Given the description of an element on the screen output the (x, y) to click on. 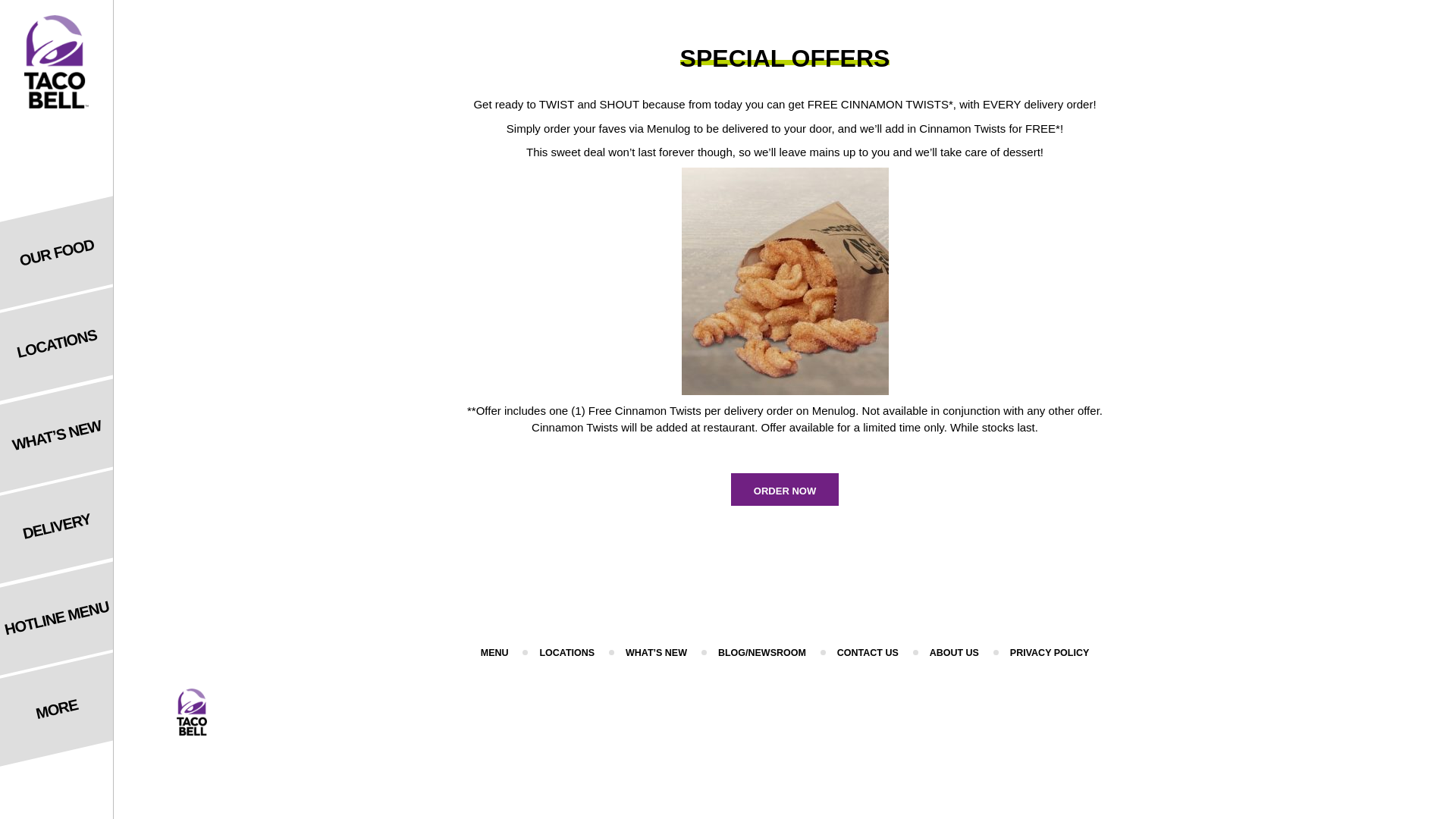
MENU (494, 652)
LOCATIONS (566, 652)
LOCATIONS (62, 328)
ABOUT US (954, 652)
OUR FOOD (62, 237)
MORE (62, 693)
DELIVERY (62, 510)
PRIVACY POLICY (1049, 652)
HOTLINE MENU (62, 602)
CONTACT US (867, 652)
ORDER NOW (784, 489)
